Given the description of an element on the screen output the (x, y) to click on. 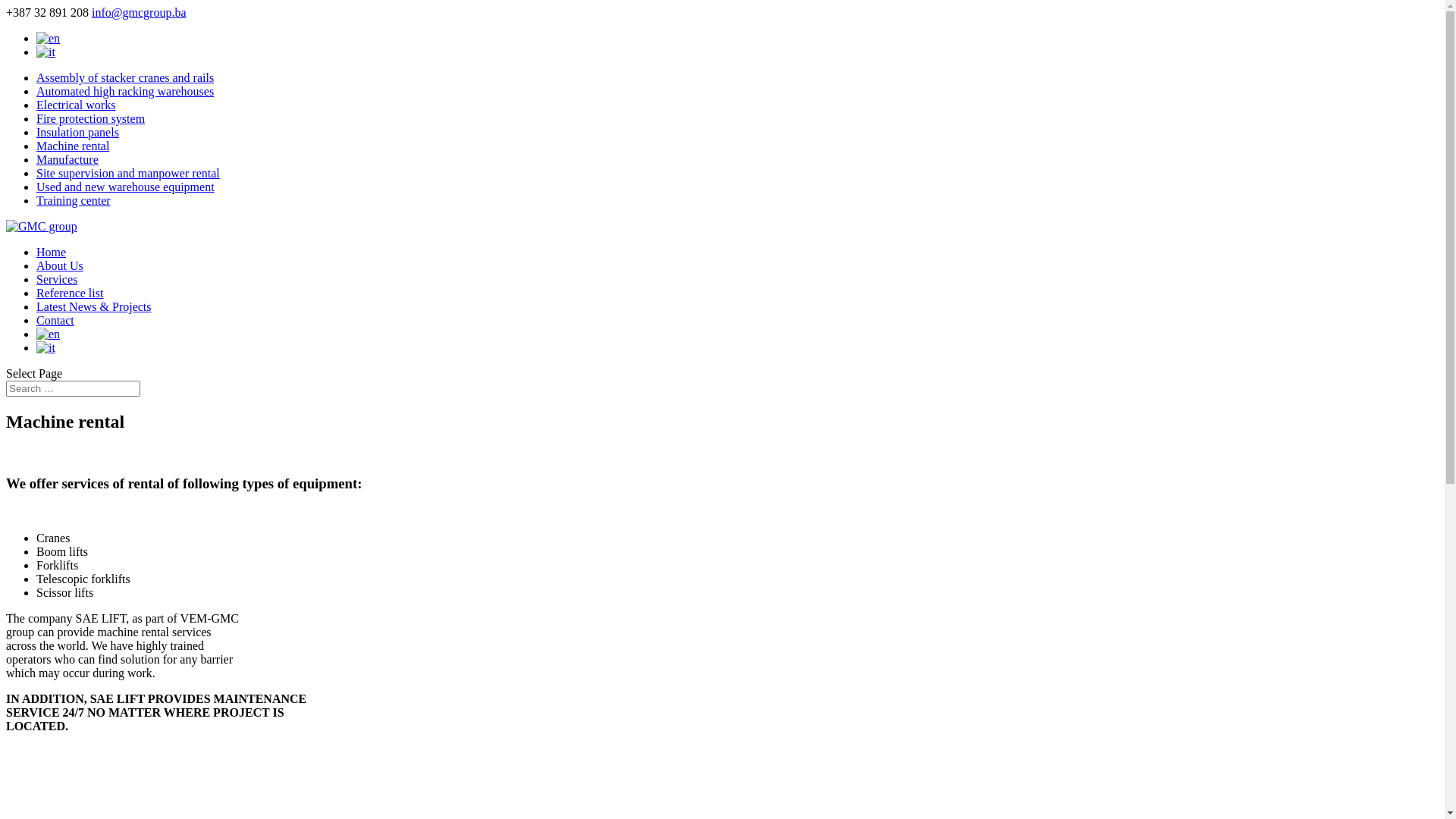
EN Element type: hover (47, 334)
Home Element type: text (50, 251)
Used and new warehouse equipment Element type: text (125, 186)
Manufacture Element type: text (67, 159)
Services Element type: text (56, 279)
Search for: Element type: hover (73, 388)
Machine rental Element type: text (72, 145)
Automated high racking warehouses Element type: text (124, 90)
Reference list Element type: text (69, 292)
Electrical works Element type: text (75, 104)
Assembly of stacker cranes and rails Element type: text (124, 77)
About Us Element type: text (59, 265)
Fire protection system Element type: text (90, 118)
IT Element type: hover (45, 347)
Contact Element type: text (55, 319)
Site supervision and manpower rental Element type: text (127, 172)
Latest News & Projects Element type: text (93, 306)
info@gmcgroup.ba Element type: text (138, 12)
EN Element type: hover (47, 38)
IT Element type: hover (45, 52)
Training center Element type: text (73, 200)
Insulation panels Element type: text (77, 131)
